Given the description of an element on the screen output the (x, y) to click on. 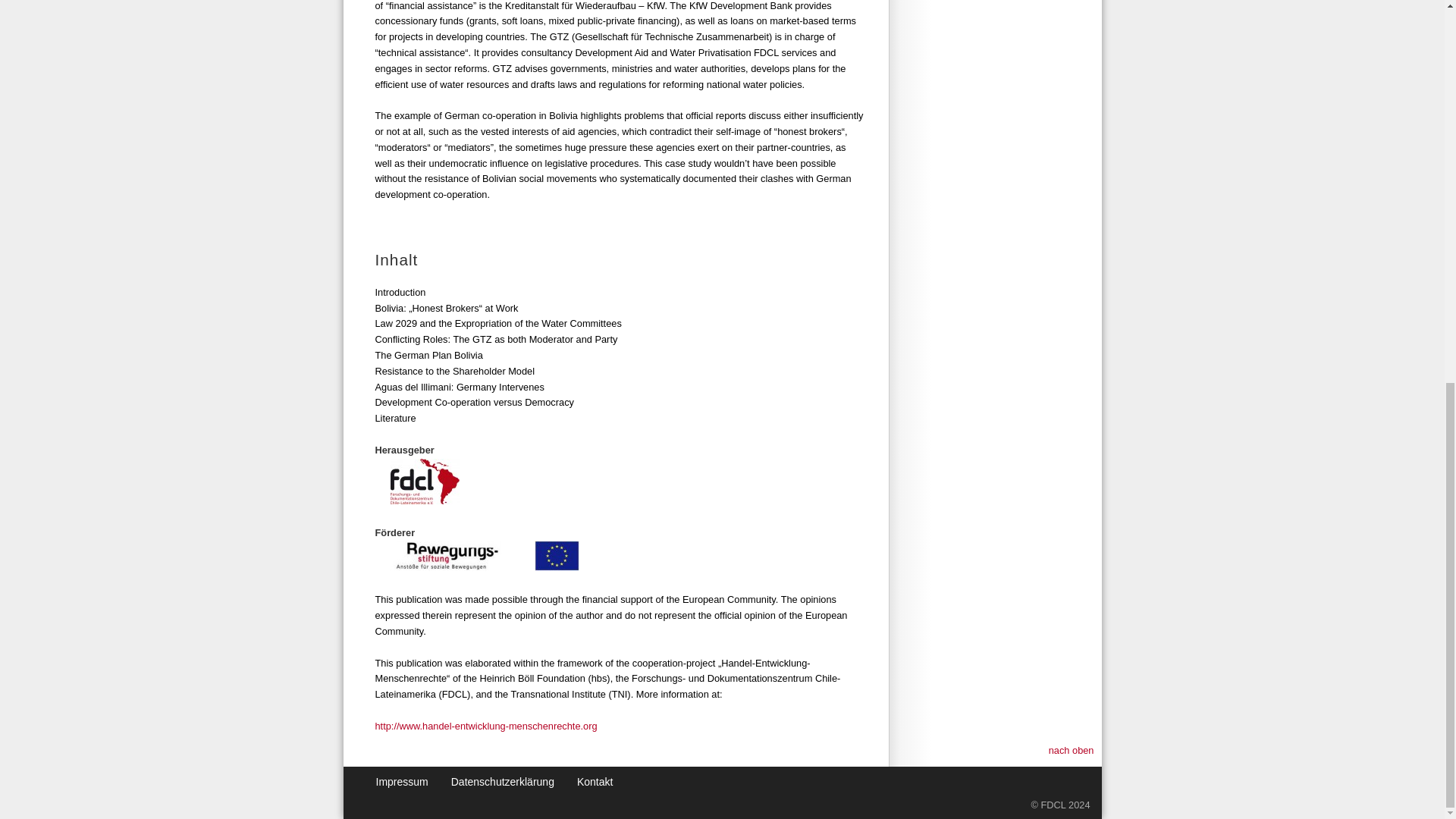
Kontakt (595, 781)
Impressum (401, 781)
nach oben (1075, 750)
